Given the description of an element on the screen output the (x, y) to click on. 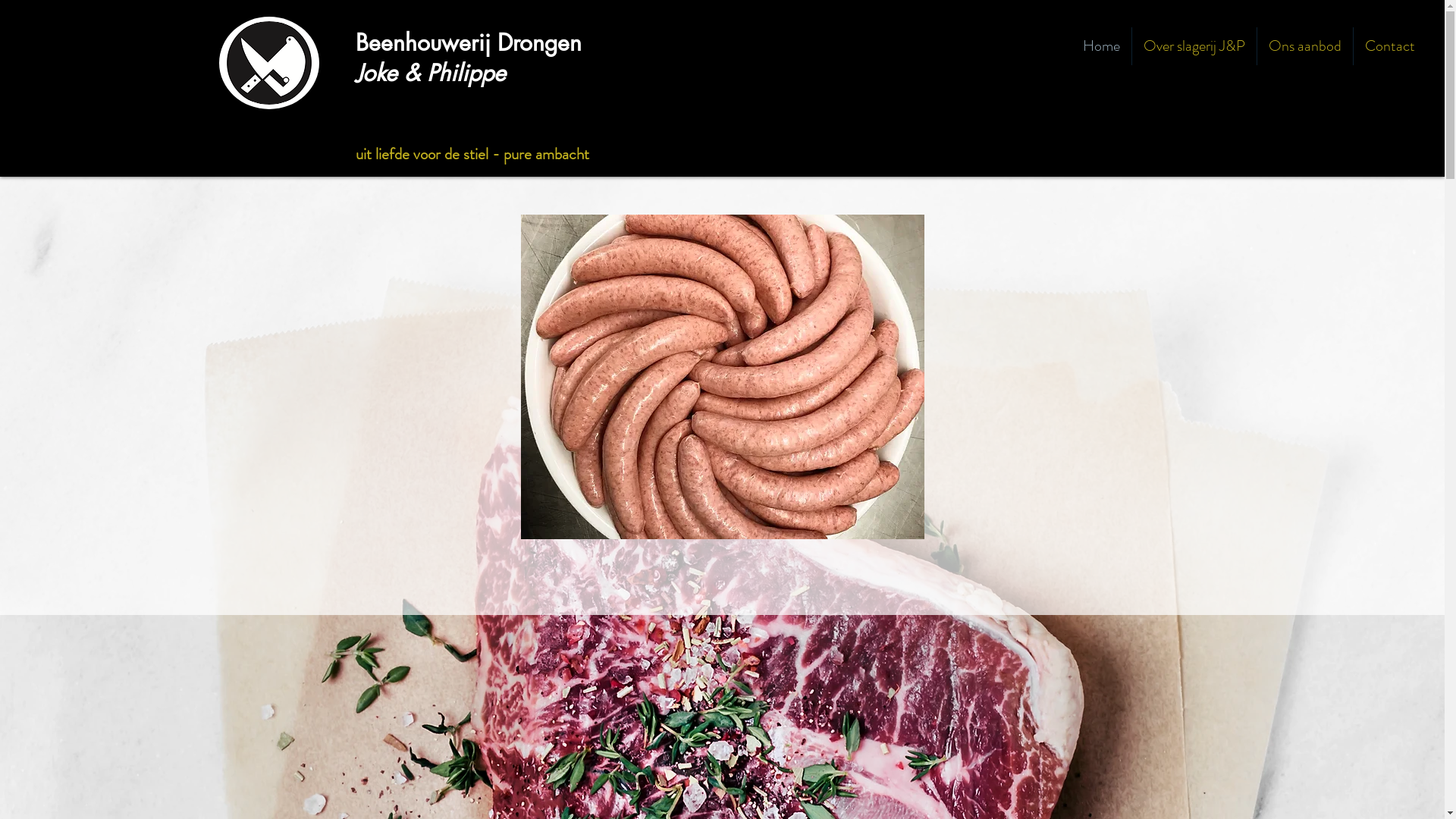
Contact Element type: text (1389, 46)
Over slagerij J&P Element type: text (1194, 46)
Home Element type: text (1101, 46)
Ons aanbod Element type: text (1304, 46)
